Given the description of an element on the screen output the (x, y) to click on. 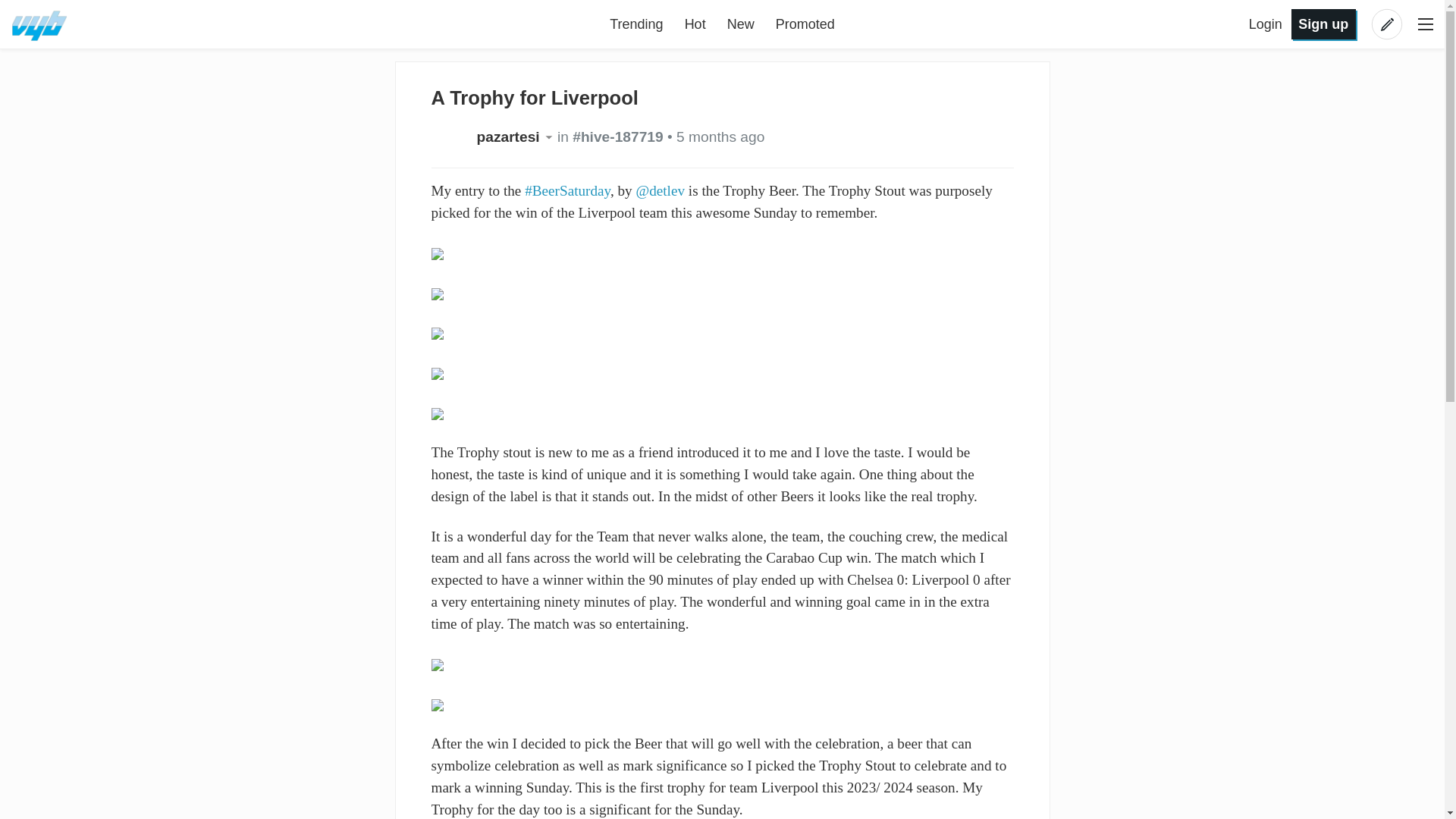
Promoted (805, 23)
Login (1267, 23)
New (740, 23)
Sign up (1323, 23)
pazartesi (516, 136)
Hot (695, 23)
Trending (636, 23)
